Given the description of an element on the screen output the (x, y) to click on. 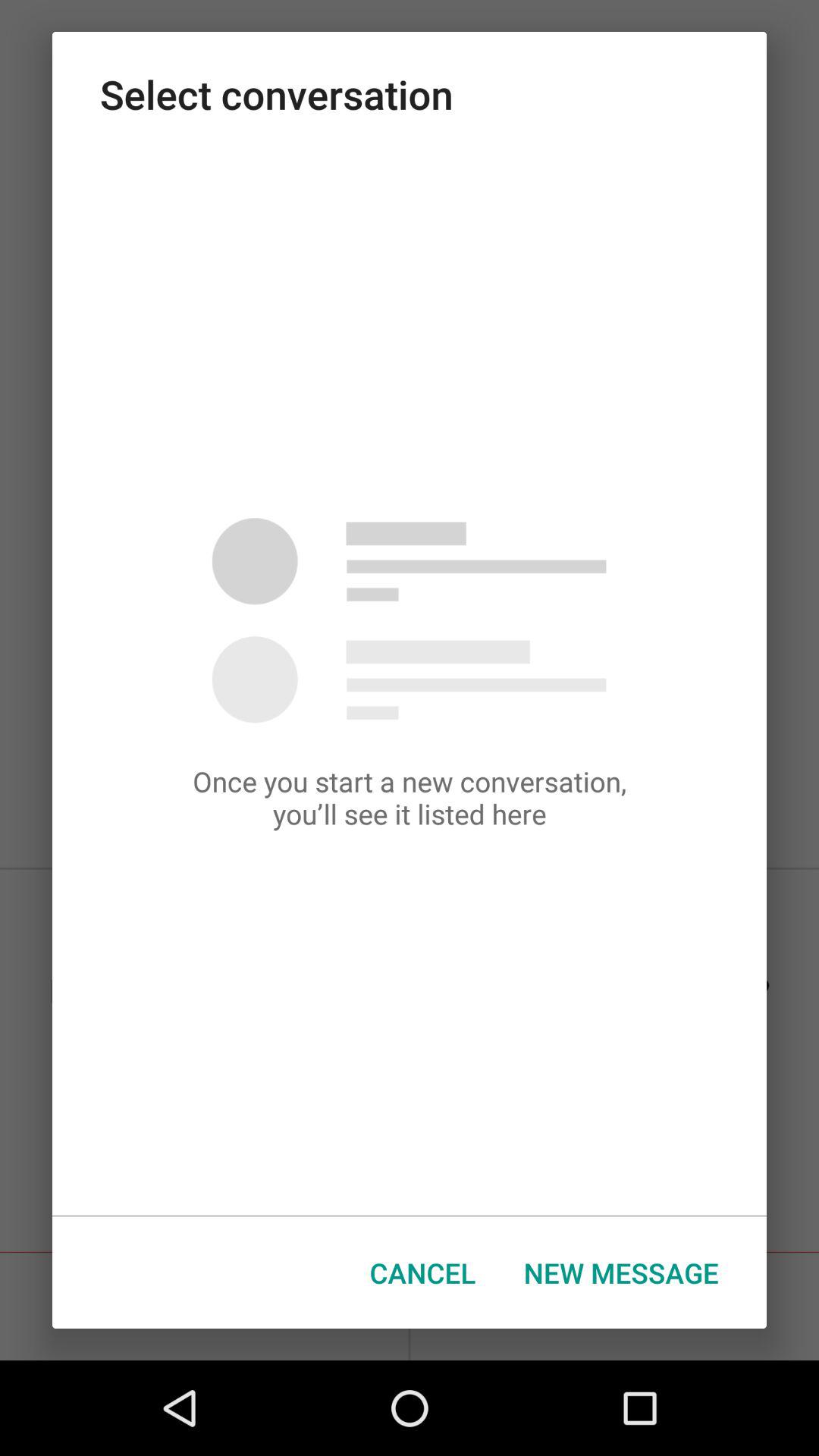
press item at the bottom right corner (620, 1272)
